Given the description of an element on the screen output the (x, y) to click on. 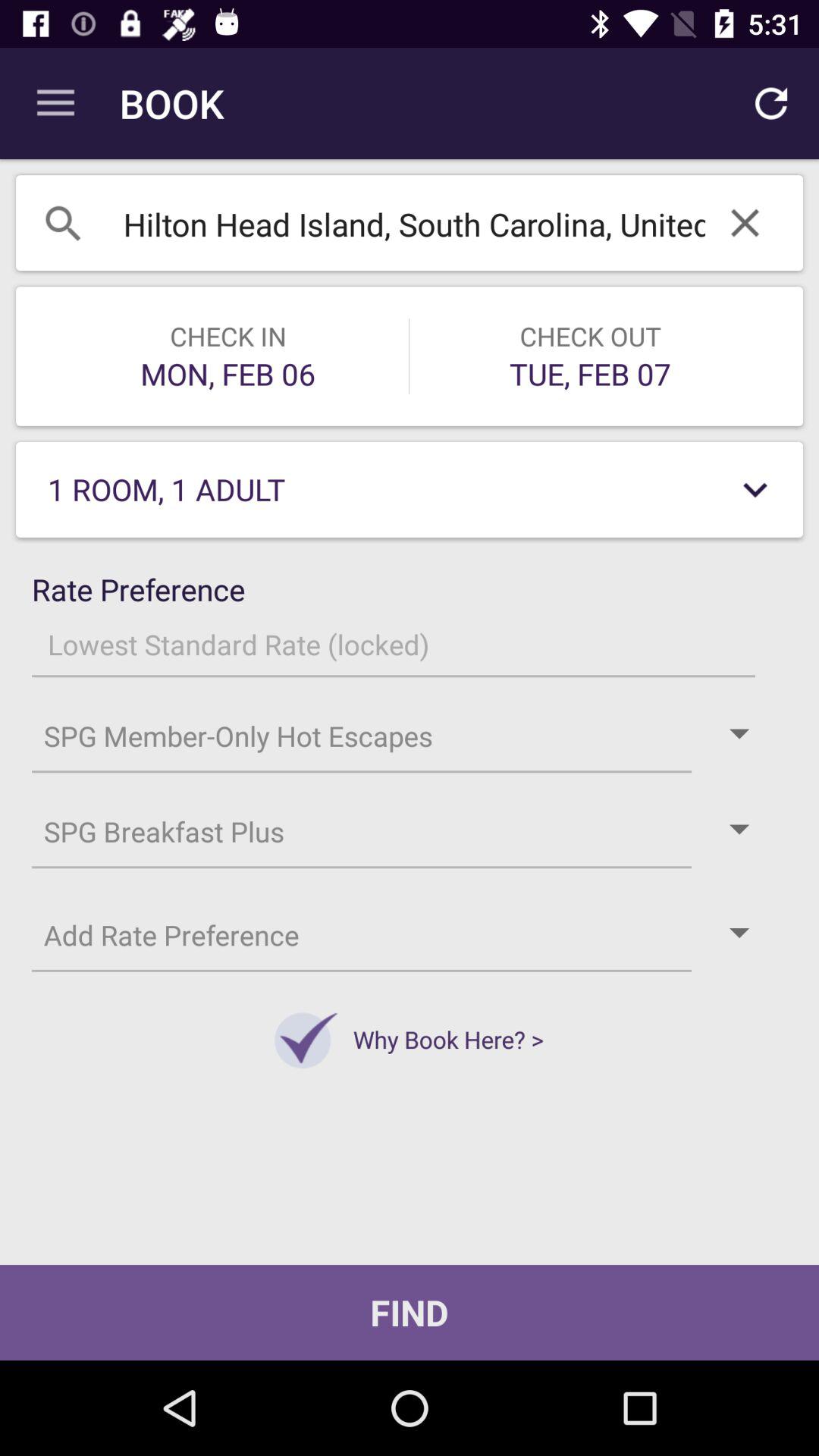
close (744, 222)
